Given the description of an element on the screen output the (x, y) to click on. 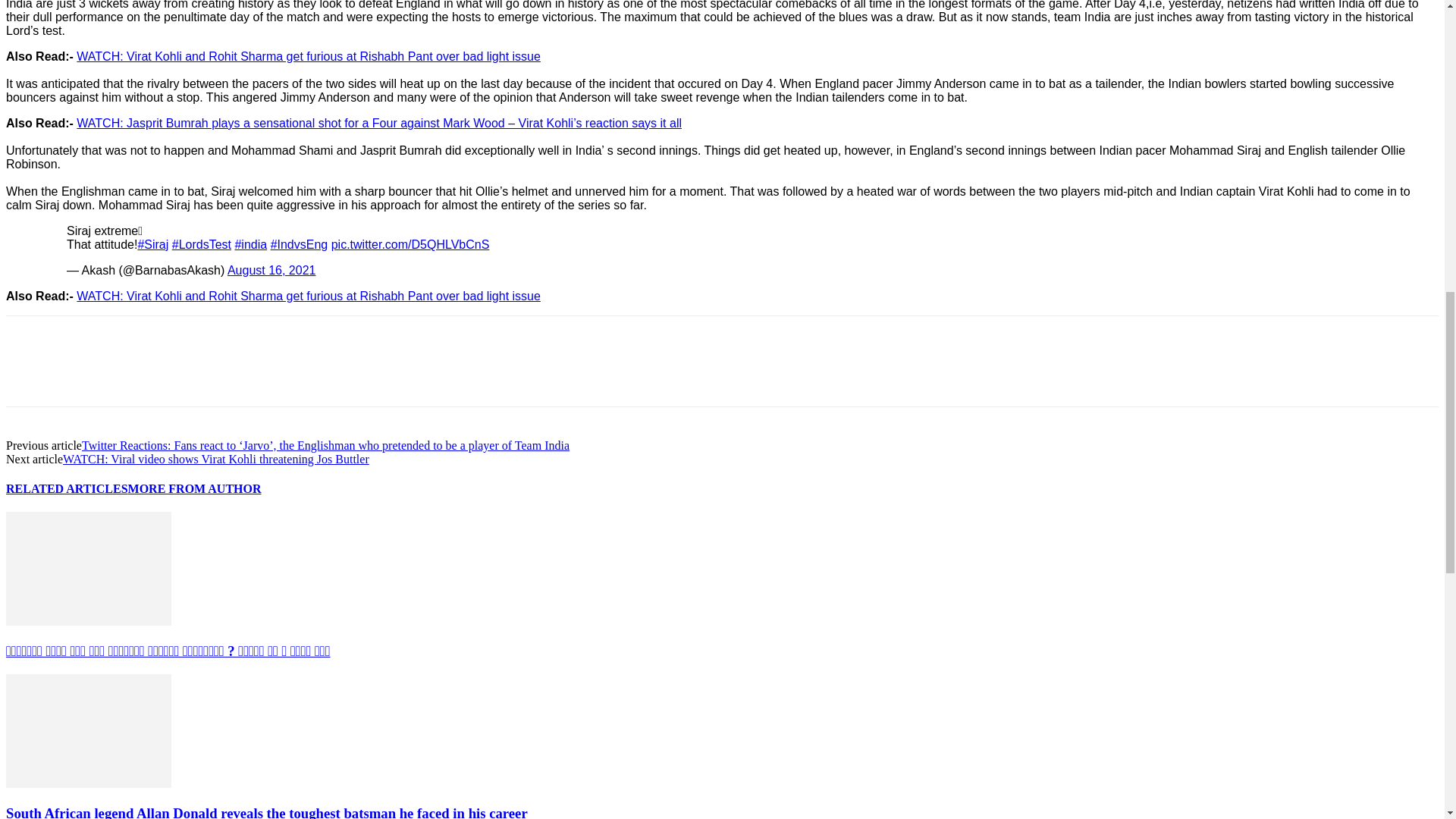
August 16, 2021 (271, 269)
bottomFacebookLike (118, 340)
